Given the description of an element on the screen output the (x, y) to click on. 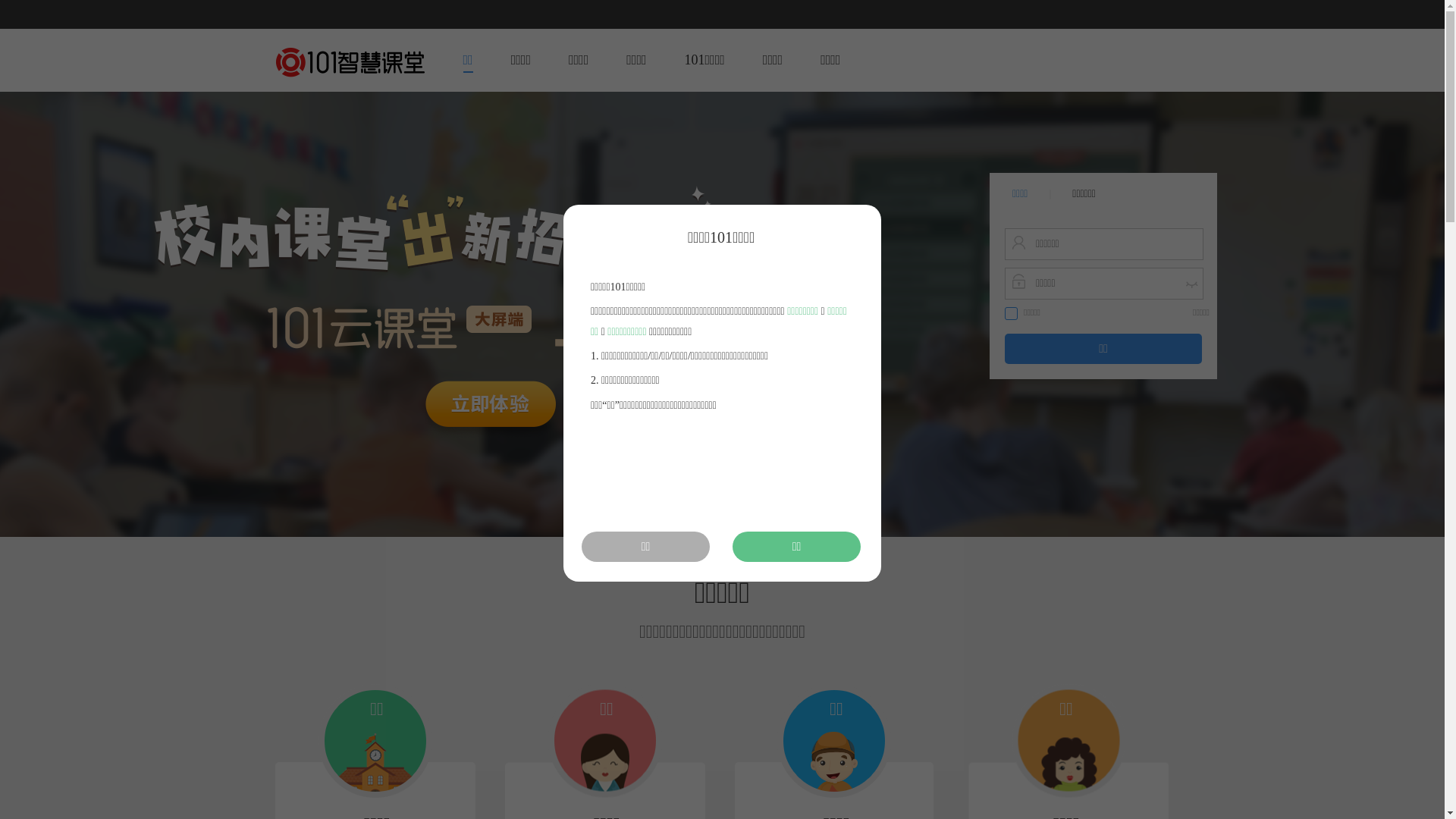
2 Element type: text (711, 522)
1 Element type: text (693, 522)
